Given the description of an element on the screen output the (x, y) to click on. 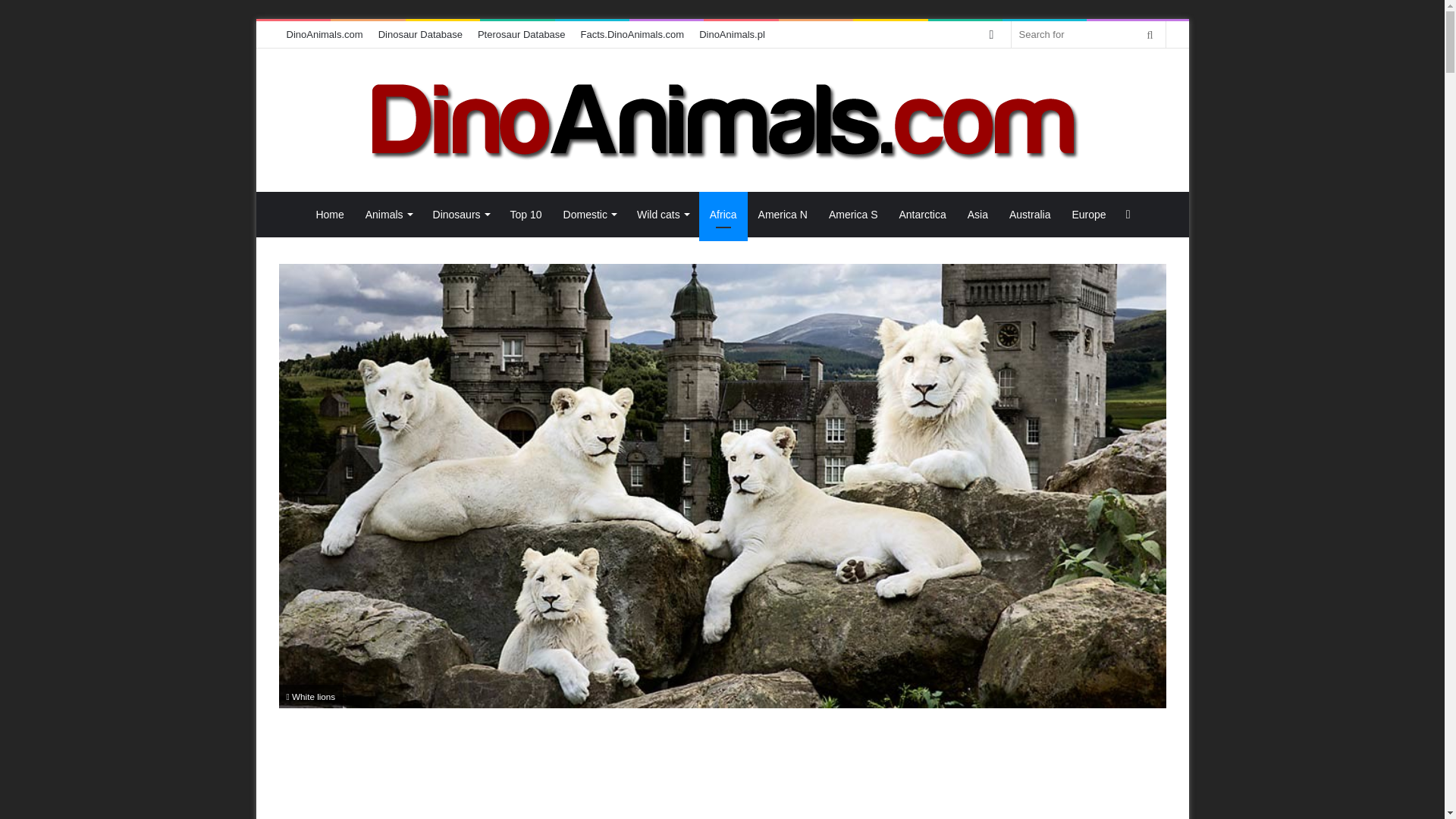
Dinosaur Database (420, 34)
Search for (1150, 34)
Pterosaur Database (521, 34)
DinoAnimals.com (721, 119)
DinoAnimals.pl (732, 34)
Facts.DinoAnimals.com (633, 34)
Facts, records, curiosities, trivia about animals (633, 34)
Search for (1088, 34)
Home (328, 214)
Animals (388, 214)
Dinosaur Database (420, 34)
Pterosaur Database (521, 34)
DinoAnimals.com (325, 34)
